Given the description of an element on the screen output the (x, y) to click on. 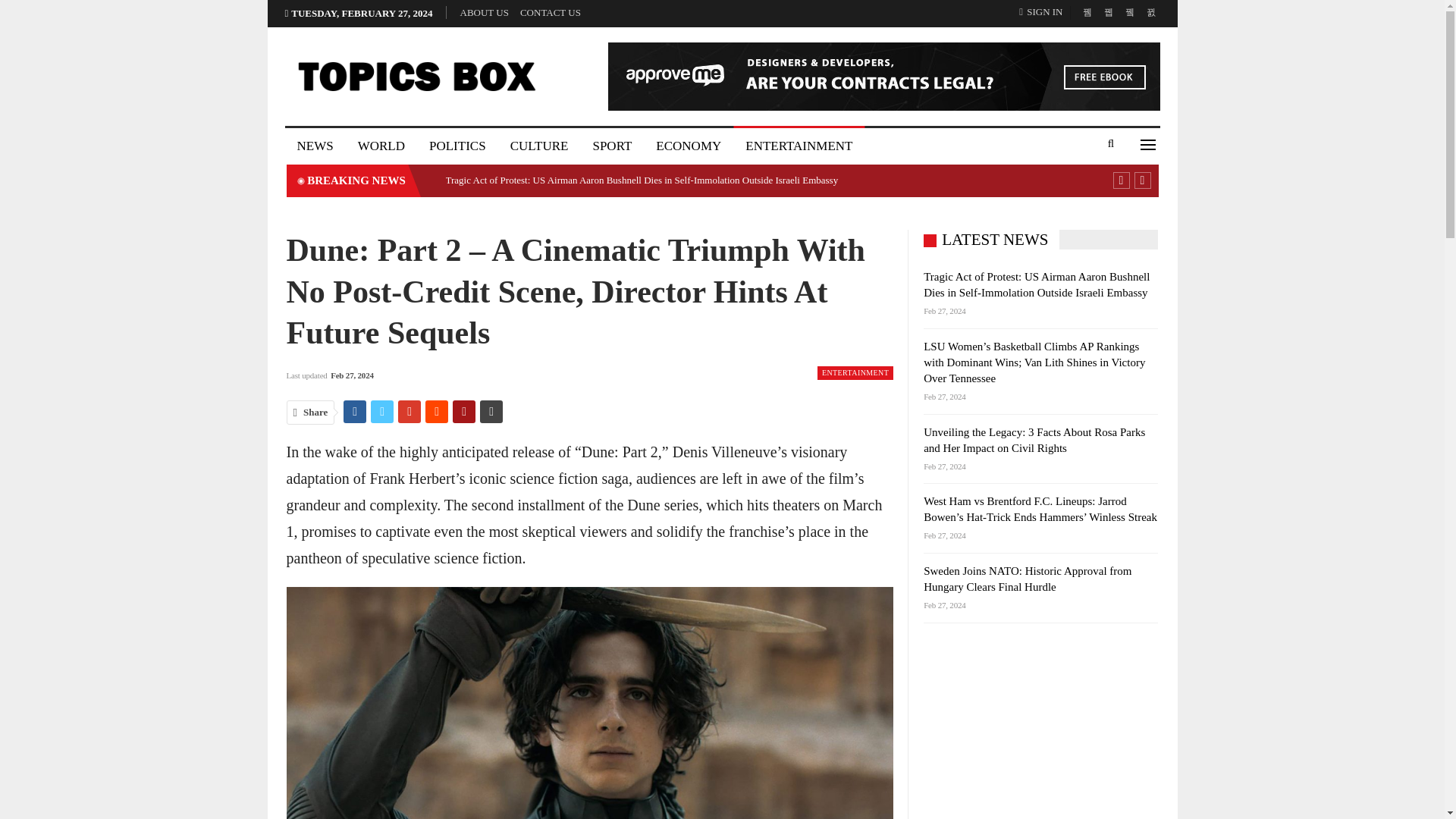
SIGN IN (1043, 12)
CULTURE (538, 145)
ECONOMY (688, 145)
POLITICS (456, 145)
NEWS (315, 145)
WORLD (381, 145)
SPORT (611, 145)
CONTACT US (549, 12)
ENTERTAINMENT (798, 145)
